Given the description of an element on the screen output the (x, y) to click on. 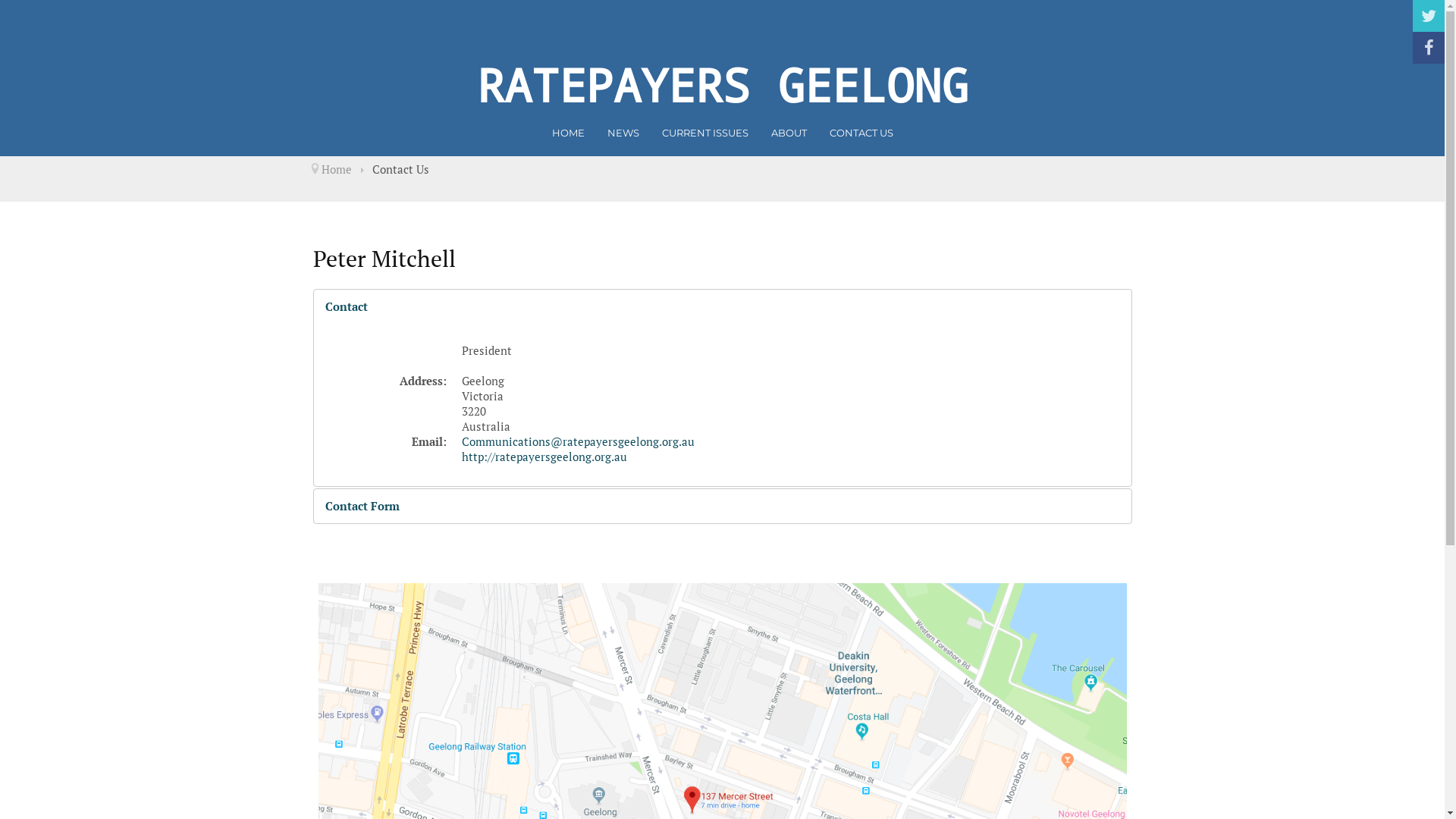
NEWS Element type: text (622, 132)
Communications@ratepayersgeelong.org.au Element type: text (577, 440)
Home Element type: text (336, 168)
Contact Form Element type: text (722, 506)
CURRENT ISSUES Element type: text (704, 132)
RATEPAYERS GEELONG Element type: text (721, 84)
http://ratepayersgeelong.org.au Element type: text (543, 456)
Contact Element type: text (722, 306)
CONTACT US Element type: text (861, 132)
Facebook Element type: hover (1428, 47)
ABOUT Element type: text (788, 132)
HOME Element type: text (568, 132)
Twitter Element type: hover (1428, 15)
